Given the description of an element on the screen output the (x, y) to click on. 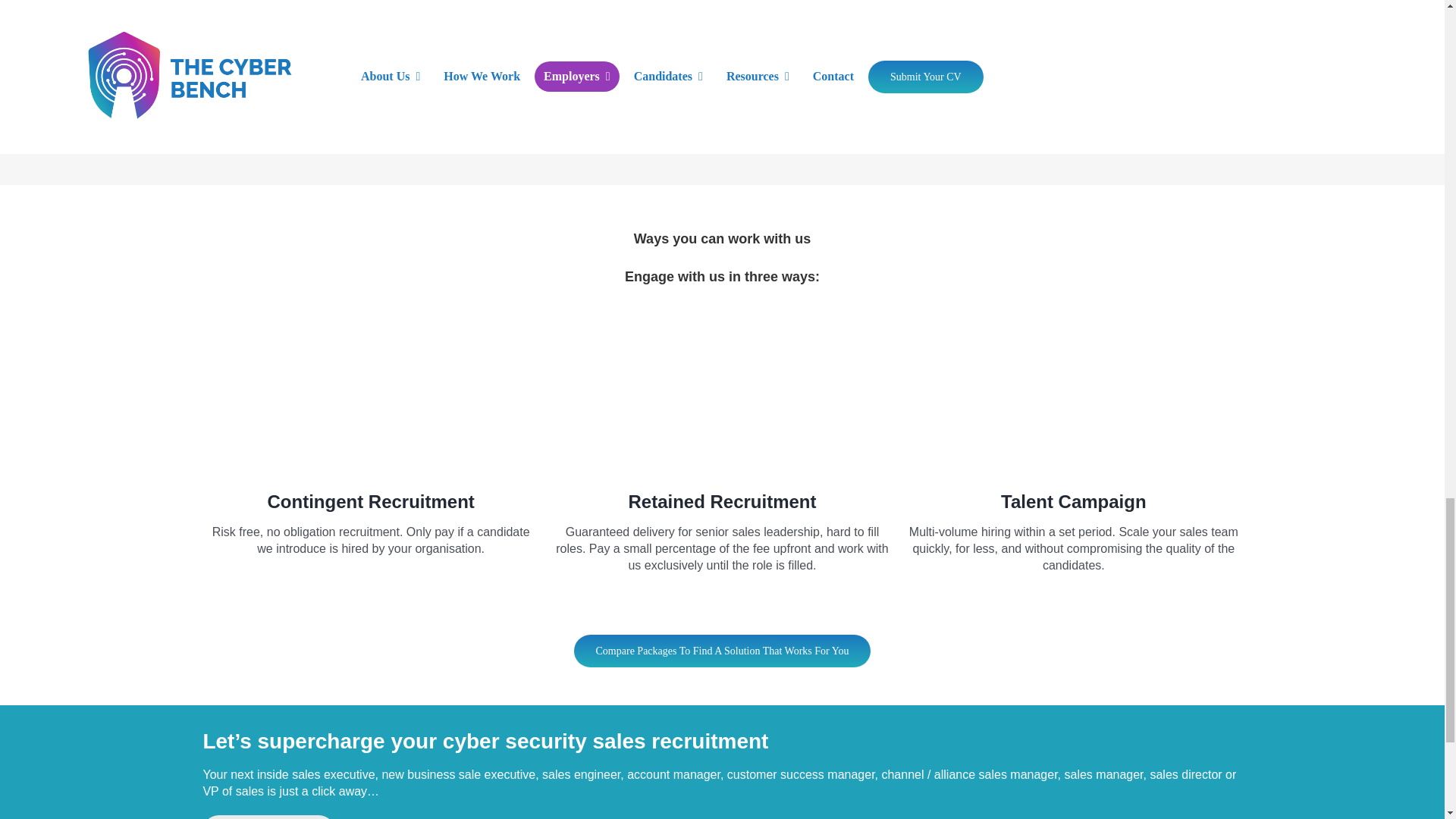
Engage In Our Support (293, 120)
Request A Call Back (268, 816)
Compare Packages To Find A Solution That Works For You (721, 650)
